Given the description of an element on the screen output the (x, y) to click on. 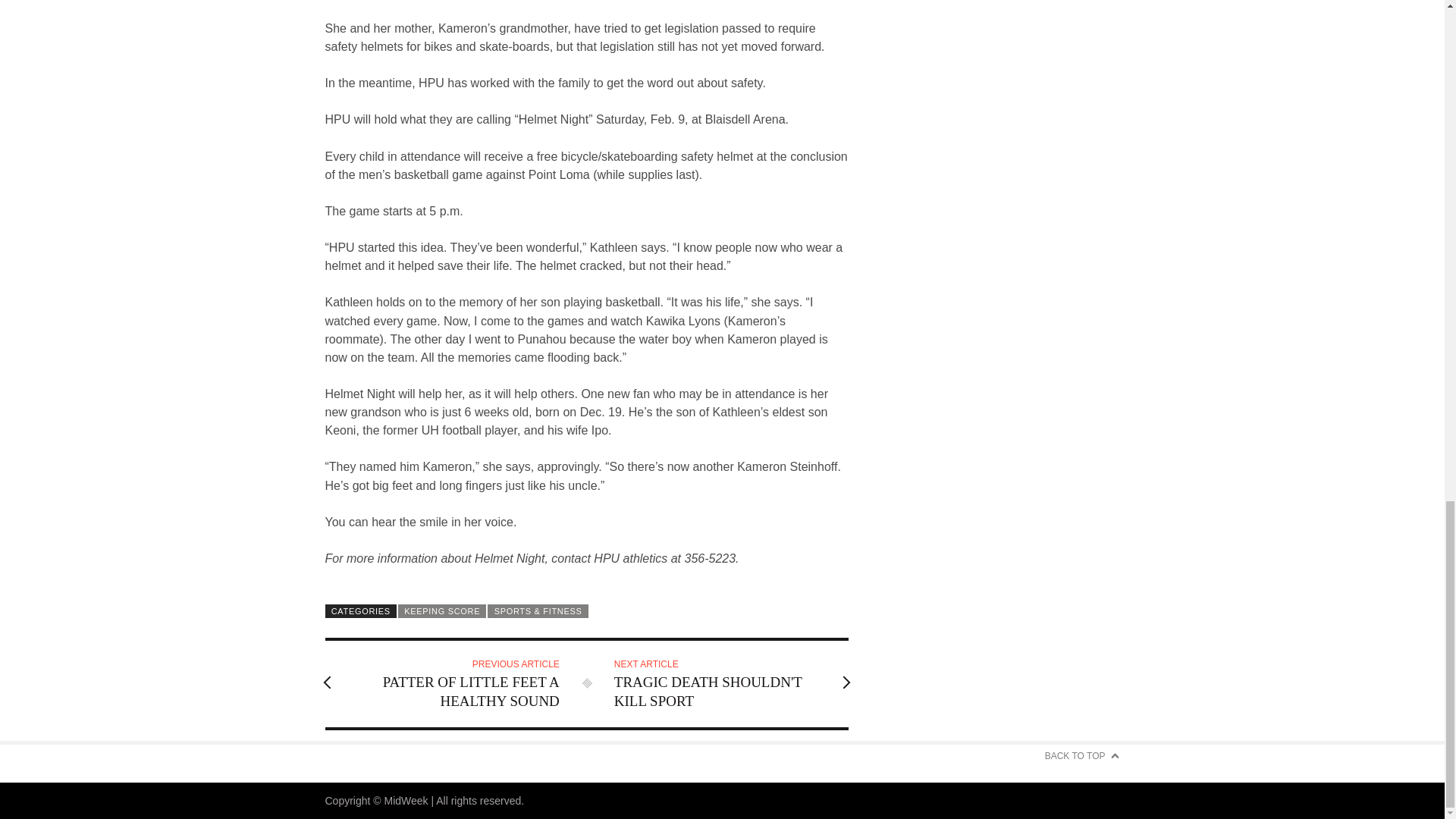
View all posts in Keeping Score (441, 611)
KEEPING SCORE (441, 611)
